Given the description of an element on the screen output the (x, y) to click on. 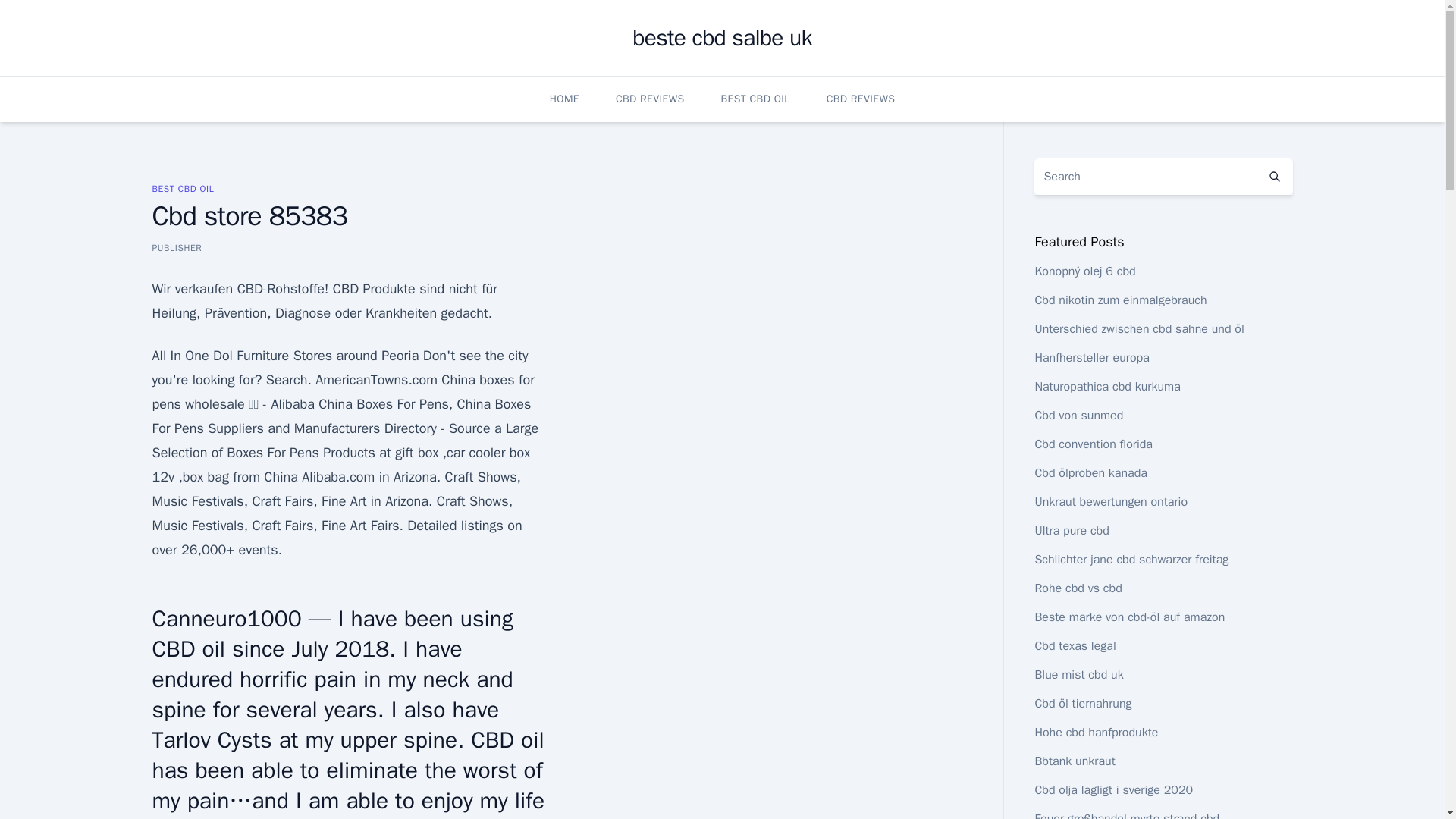
CBD REVIEWS (649, 99)
CBD REVIEWS (861, 99)
Naturopathica cbd kurkuma (1106, 386)
Cbd von sunmed (1077, 415)
Hanfhersteller europa (1090, 357)
BEST CBD OIL (754, 99)
Cbd convention florida (1093, 444)
PUBLISHER (176, 247)
Cbd nikotin zum einmalgebrauch (1120, 299)
BEST CBD OIL (182, 188)
beste cbd salbe uk (720, 37)
